Given the description of an element on the screen output the (x, y) to click on. 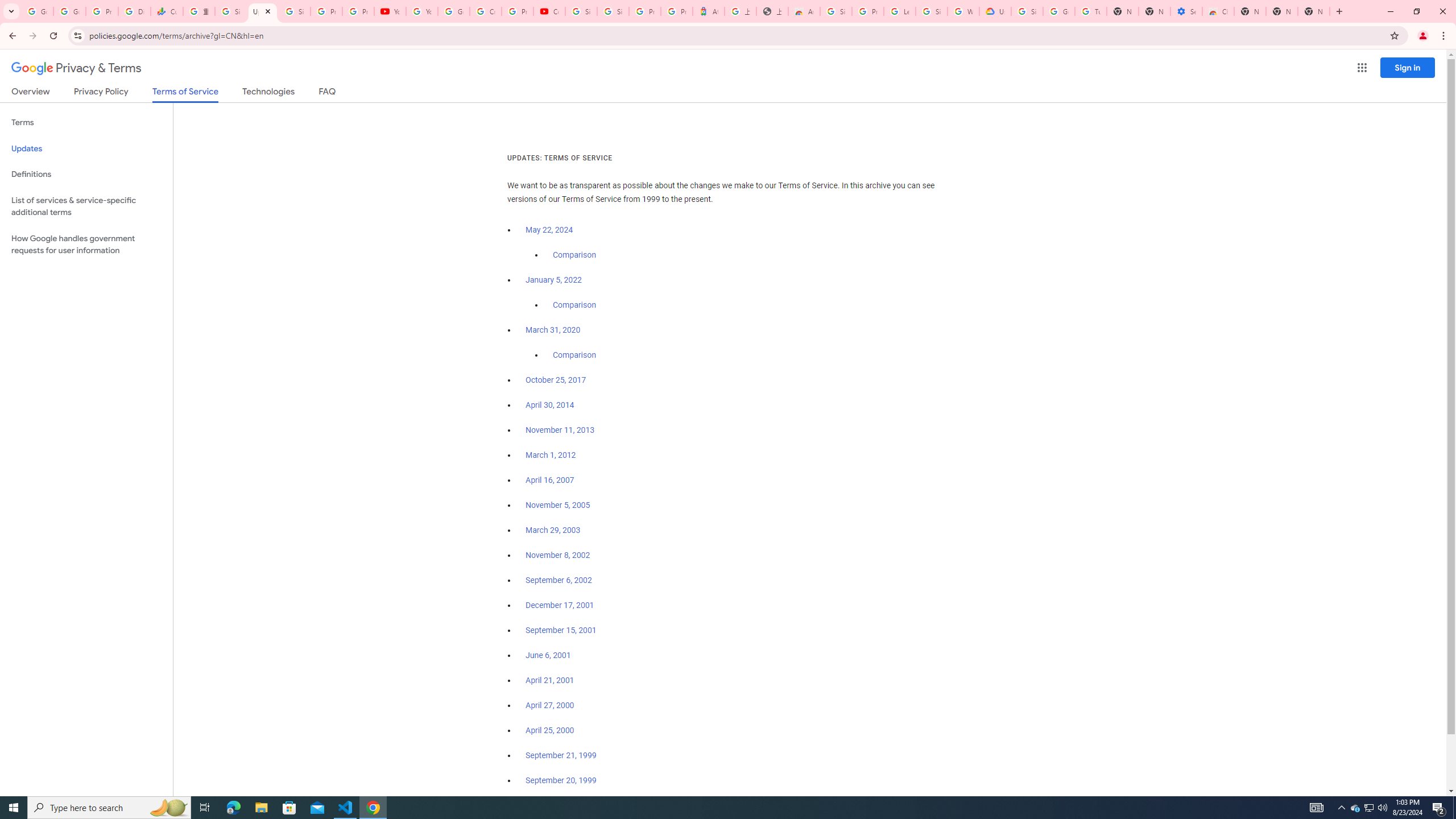
Sign in - Google Accounts (1027, 11)
Content Creator Programs & Opportunities - YouTube Creators (549, 11)
April 27, 2000 (550, 705)
Turn cookies on or off - Computer - Google Account Help (1091, 11)
March 1, 2012 (550, 455)
New Tab (1249, 11)
YouTube (421, 11)
Who are Google's partners? - Privacy and conditions - Google (963, 11)
